Given the description of an element on the screen output the (x, y) to click on. 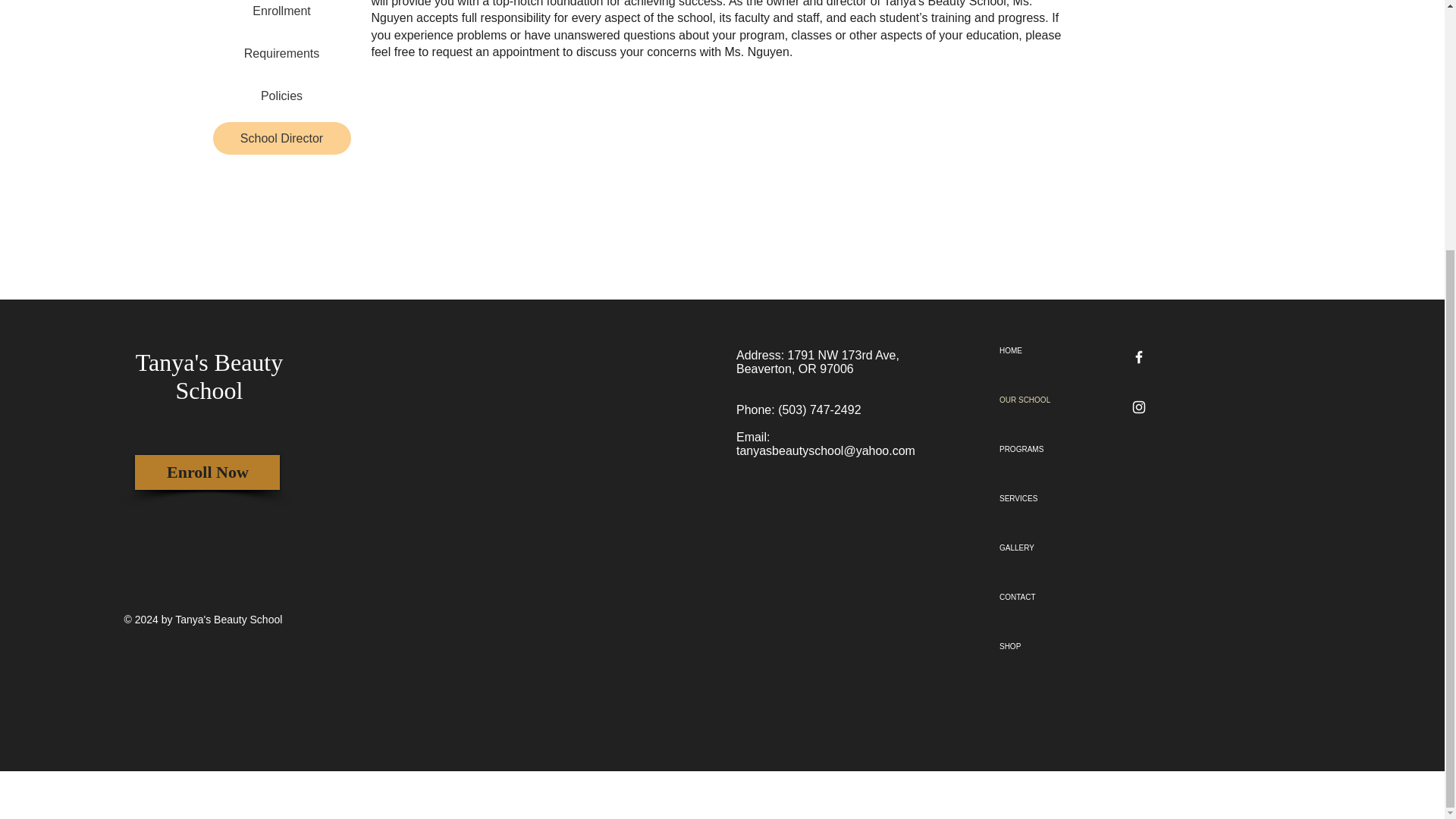
Policies (281, 95)
Enroll Now (207, 472)
Enrollment (281, 13)
School Director (281, 138)
Tanya's Beauty School (209, 376)
Requirements (281, 52)
